Given the description of an element on the screen output the (x, y) to click on. 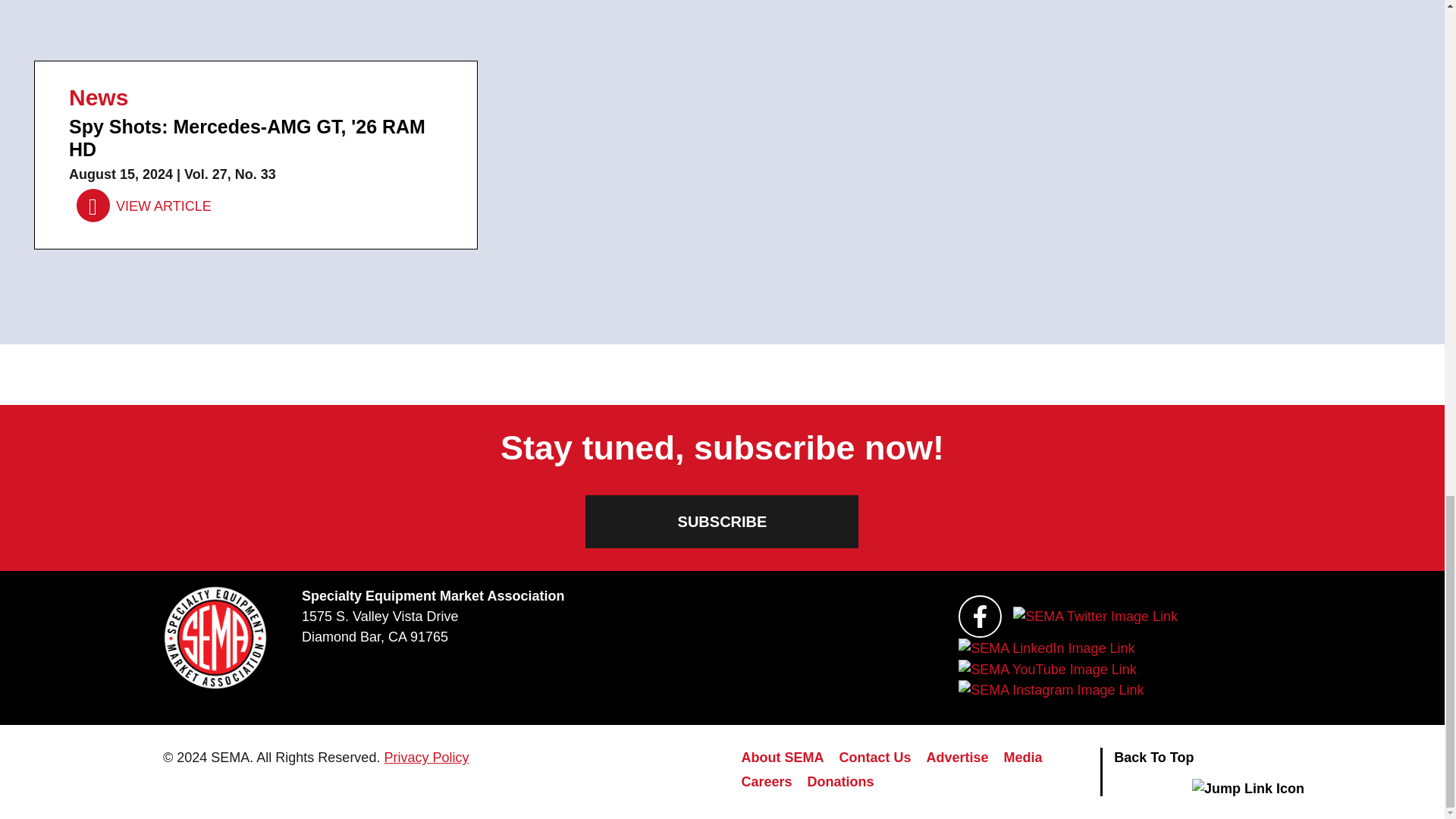
SEMA Twitter Link (1095, 616)
SUBSCRIBE (722, 521)
Spy Shots: Mercedes-AMG GT, '26 RAM HD (143, 205)
VIEW ARTICLE (143, 205)
SEMA Instagram Link (1050, 690)
SEMA YouTube Link (1046, 669)
SEMA Facebook Link (979, 616)
Privacy Policy (426, 757)
SEMA LinkedIn Link (1046, 648)
